Given the description of an element on the screen output the (x, y) to click on. 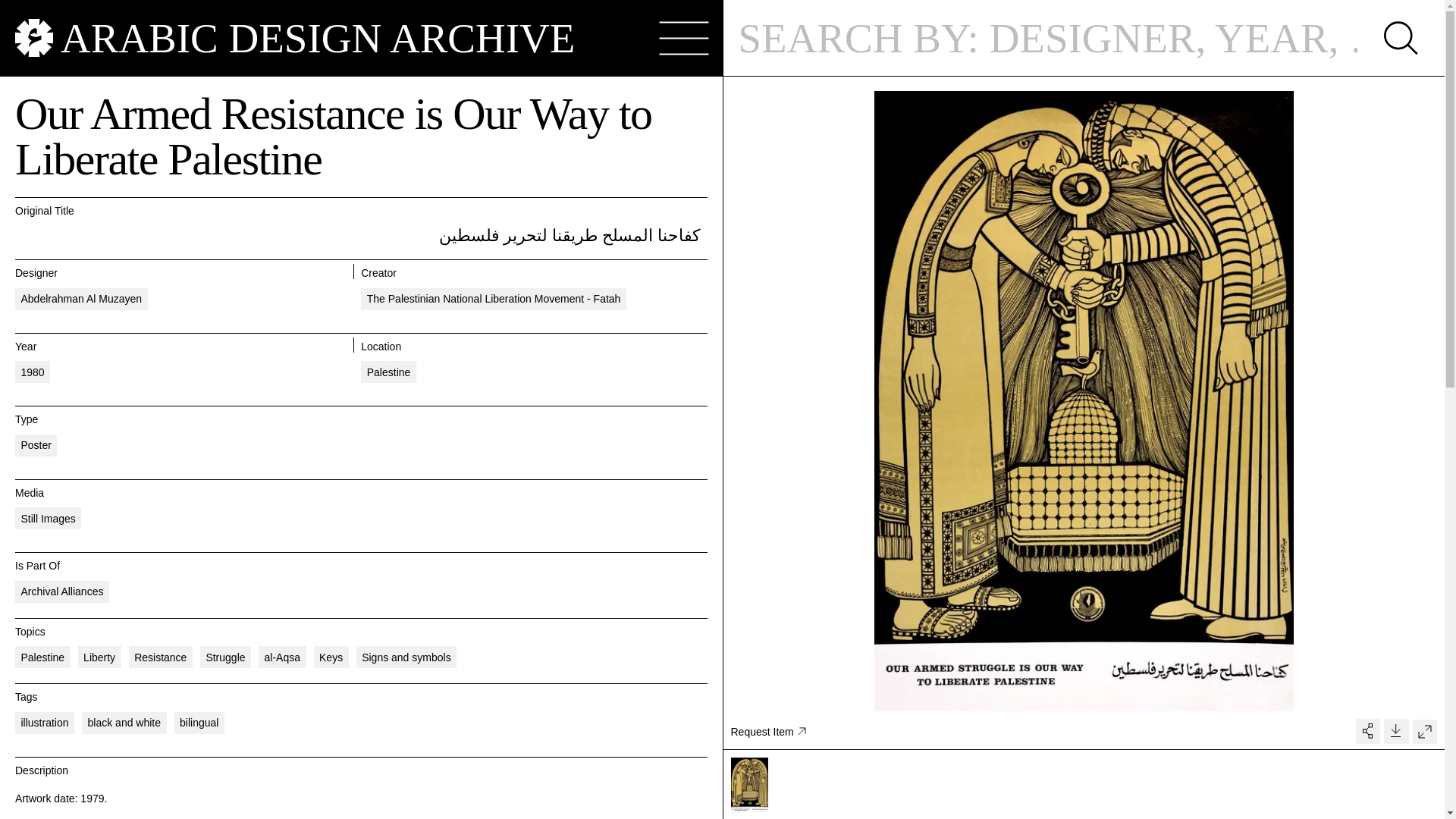
al-Aqsa (282, 657)
Struggle (225, 657)
Still Images (47, 517)
Liberty (99, 657)
Archival Alliances (61, 591)
The Palestinian National Liberation Movement - Fatah (493, 299)
Abdelrahman Al Muzayen (81, 299)
Keys (331, 657)
Resistance (160, 657)
Palestine (388, 372)
Palestine (41, 657)
black and white (124, 722)
Poster (35, 444)
Request Item (768, 731)
Signs and symbols (406, 657)
